Given the description of an element on the screen output the (x, y) to click on. 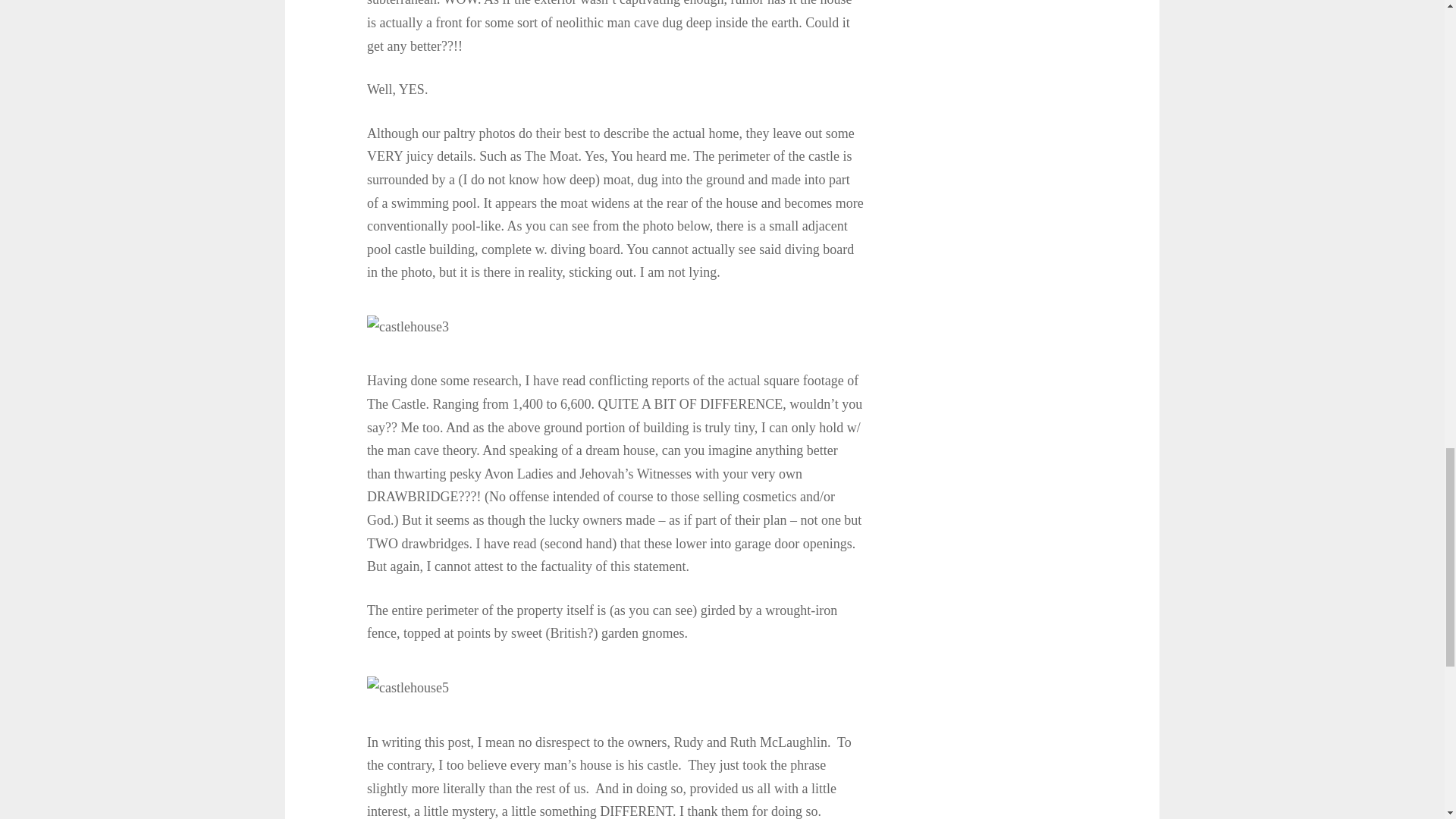
castlehouse5 (407, 688)
castlehouse3 (407, 327)
